Given the description of an element on the screen output the (x, y) to click on. 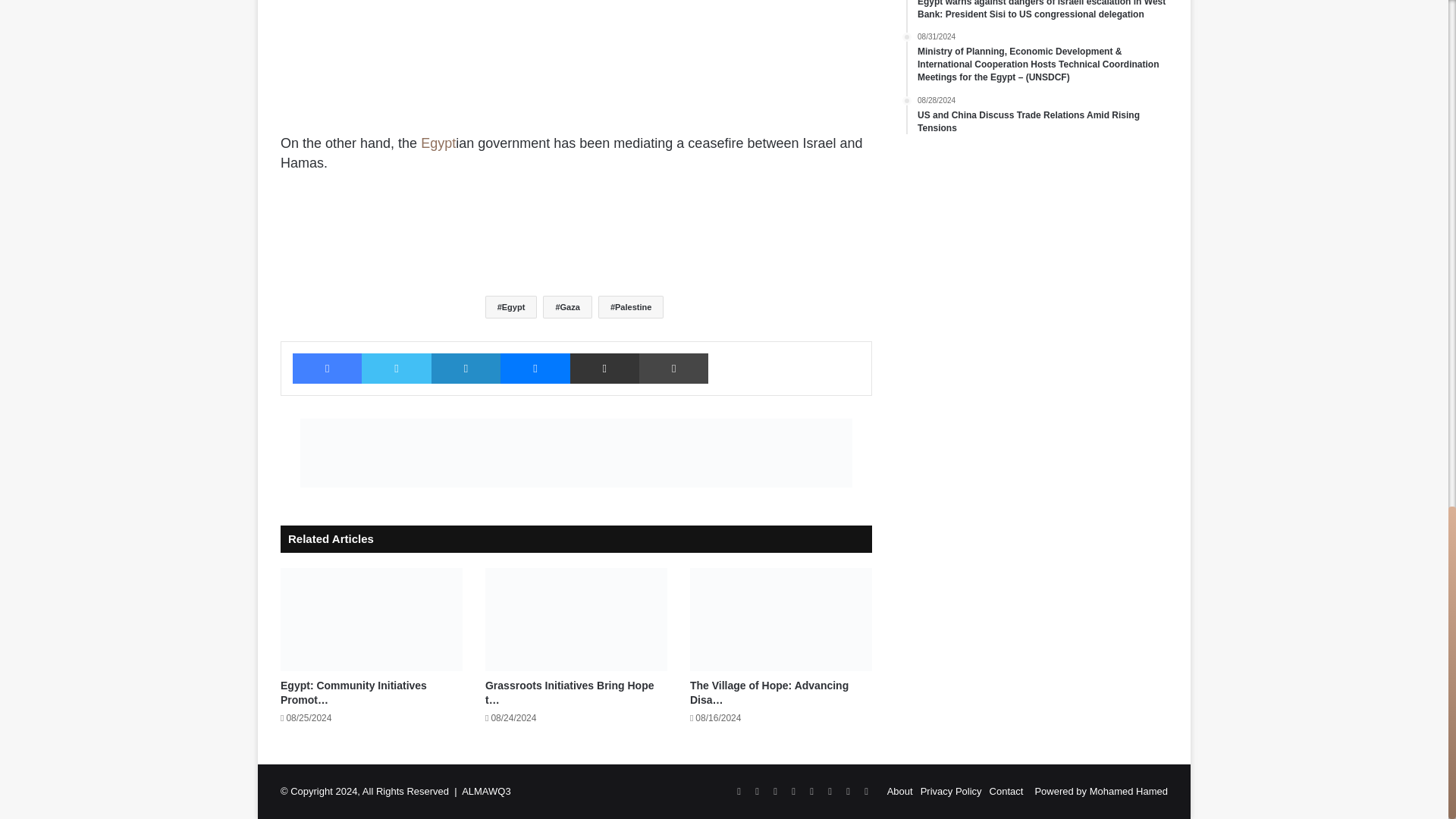
Gaza (567, 306)
Messenger (534, 368)
Twitter (395, 368)
Share via Email (604, 368)
LinkedIn (465, 368)
Egypt (510, 306)
Egypt (437, 142)
Facebook (326, 368)
